Given the description of an element on the screen output the (x, y) to click on. 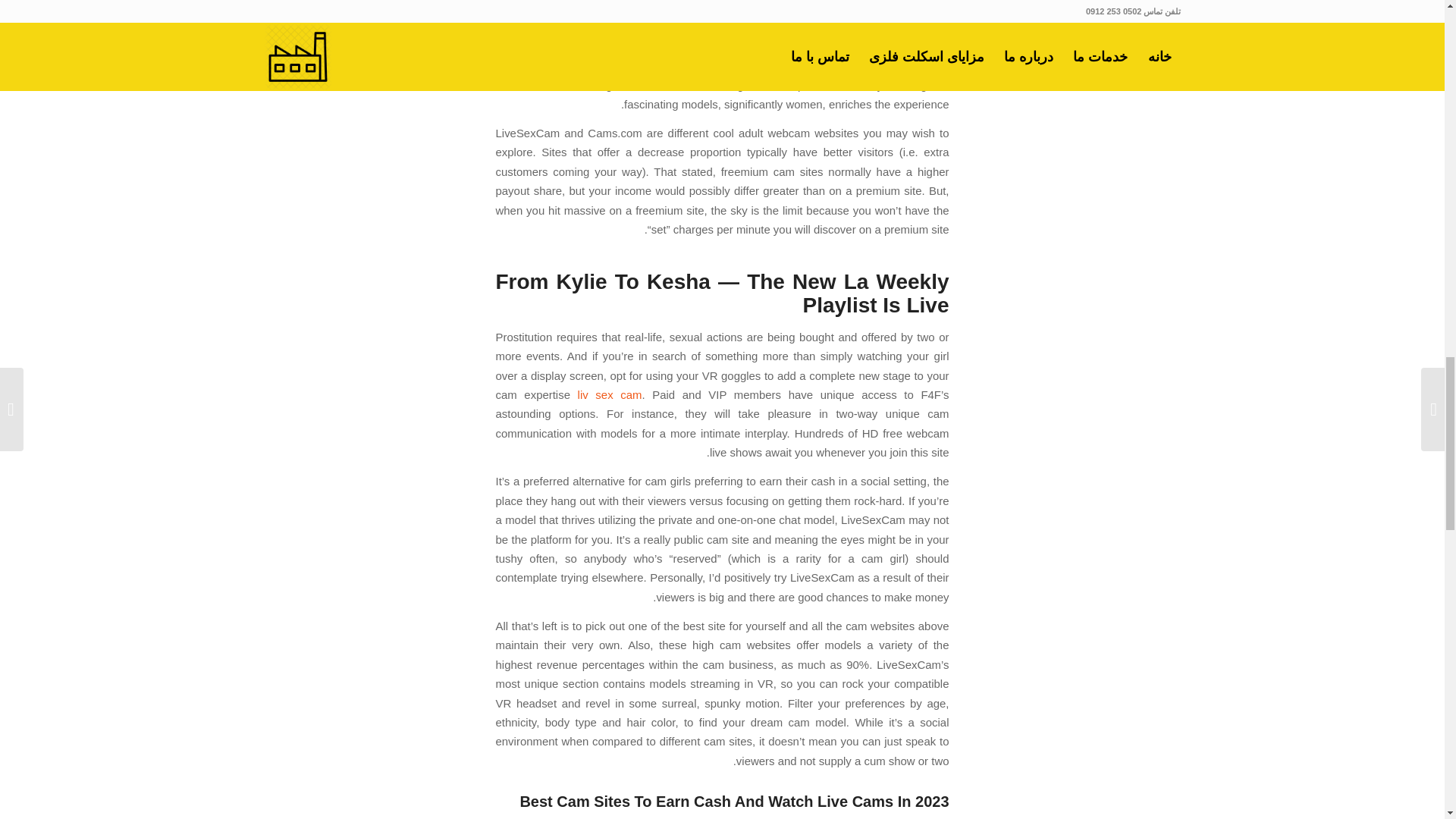
liv sex cam (610, 394)
